Given the description of an element on the screen output the (x, y) to click on. 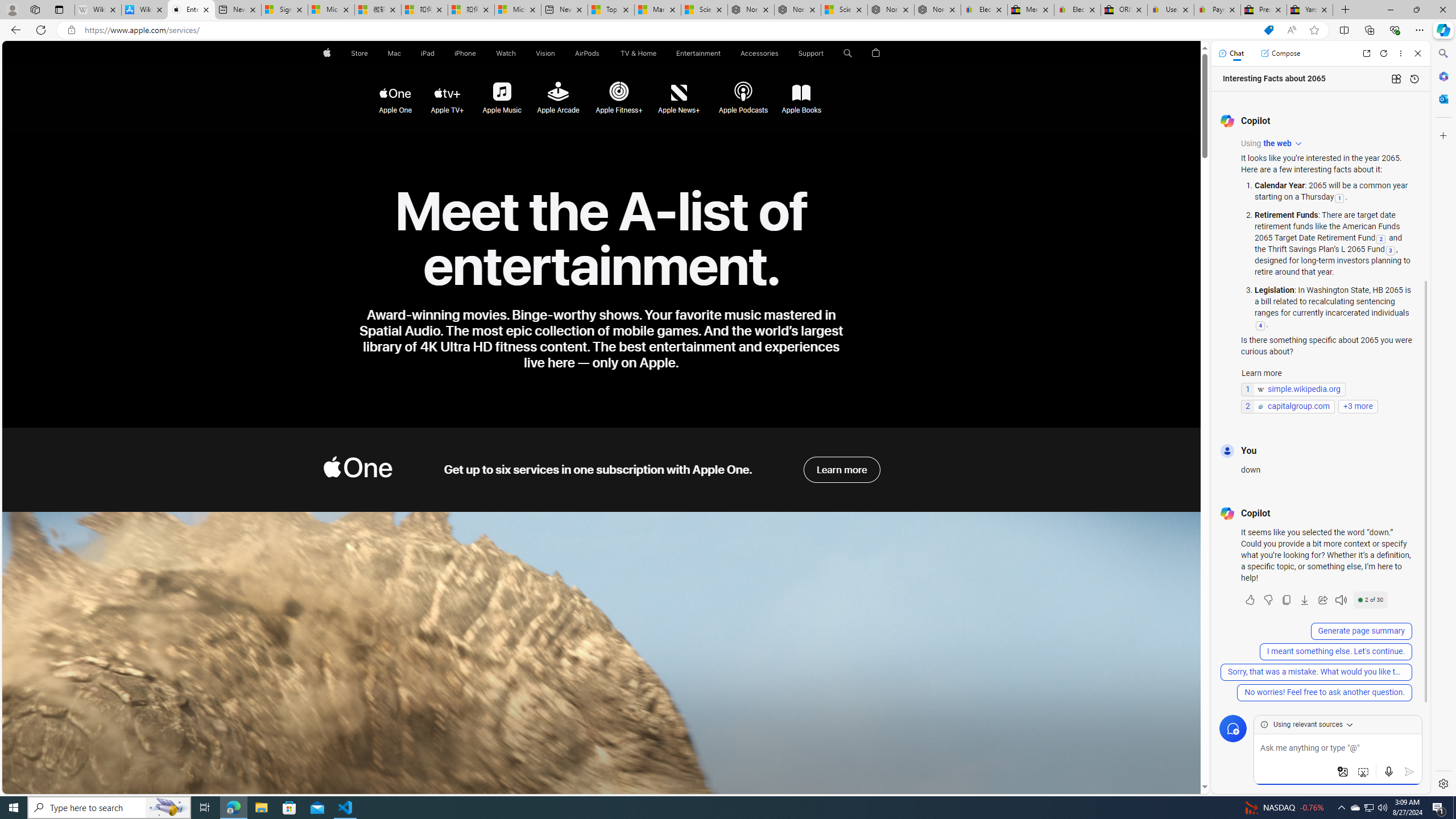
AirPods (587, 53)
Compose (1280, 52)
Apple Podcasts (741, 92)
iPhone (464, 53)
Accessories (759, 53)
Apple Music (500, 92)
Apple Arcade (558, 93)
Apple News+ (679, 92)
Apple Books (801, 93)
Search apple.com (847, 53)
